Given the description of an element on the screen output the (x, y) to click on. 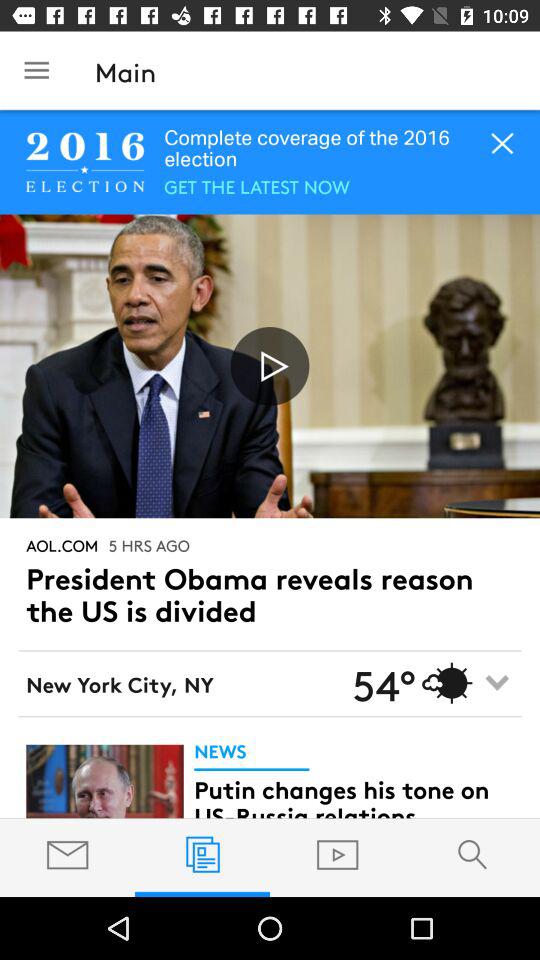
tap article option (104, 781)
